Given the description of an element on the screen output the (x, y) to click on. 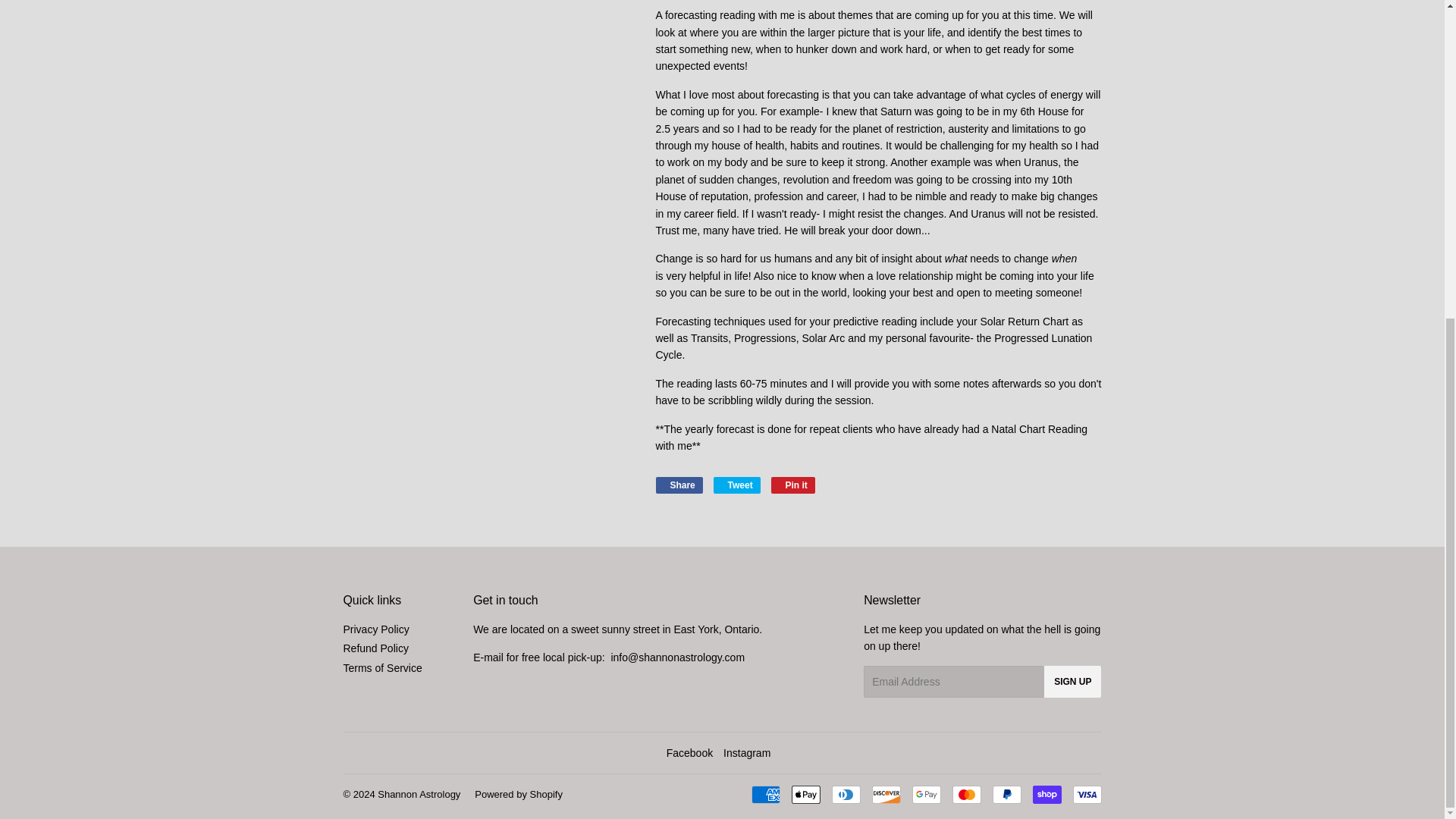
Facebook (689, 752)
Apple Pay (806, 794)
Pin on Pinterest (793, 484)
Shannon Astrology (418, 794)
Powered by Shopify (518, 794)
Shannon Astrology on Facebook (689, 752)
Share on Facebook (793, 484)
Privacy Policy (678, 484)
Tweet on Twitter (678, 484)
Shop Pay (375, 629)
Terms of Service (736, 484)
Refund Policy (1046, 794)
Discover (382, 667)
